Given the description of an element on the screen output the (x, y) to click on. 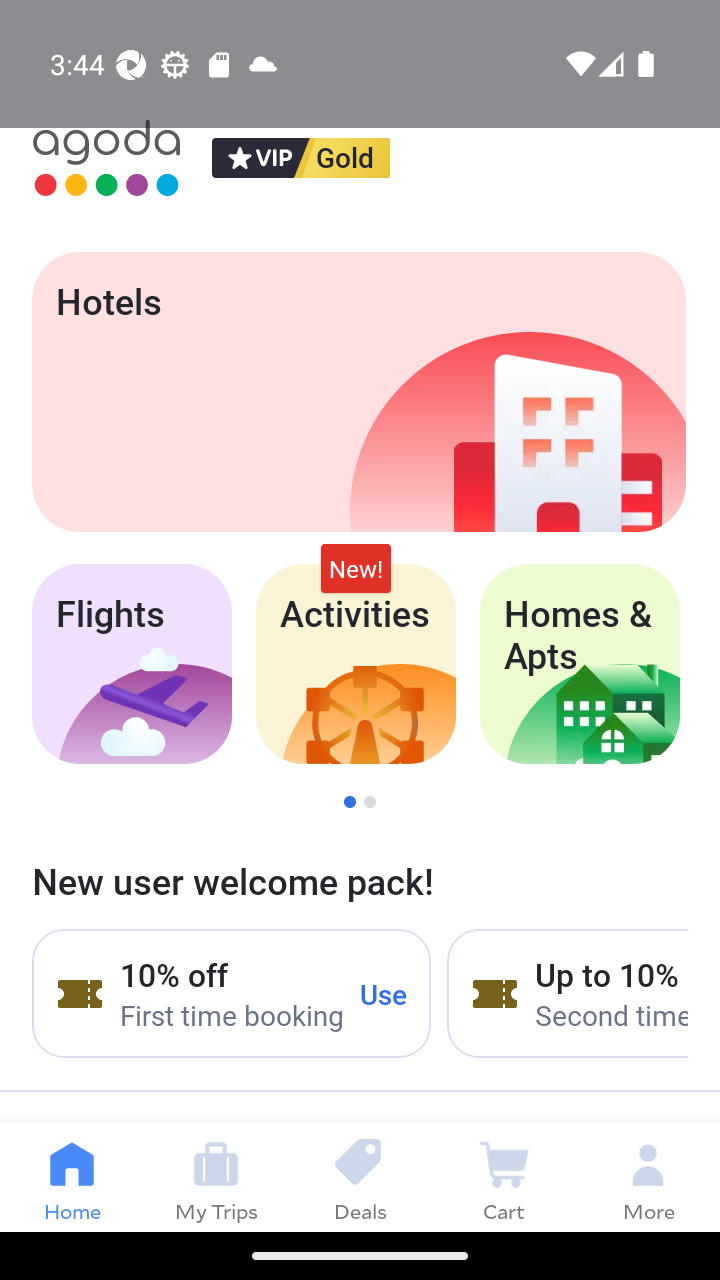
Hotels (358, 392)
New! (355, 568)
Flights (131, 664)
Activities (355, 664)
Homes & Apts (579, 664)
Use (384, 993)
Home (72, 1176)
My Trips (216, 1176)
Deals (360, 1176)
Cart (504, 1176)
More (648, 1176)
